Given the description of an element on the screen output the (x, y) to click on. 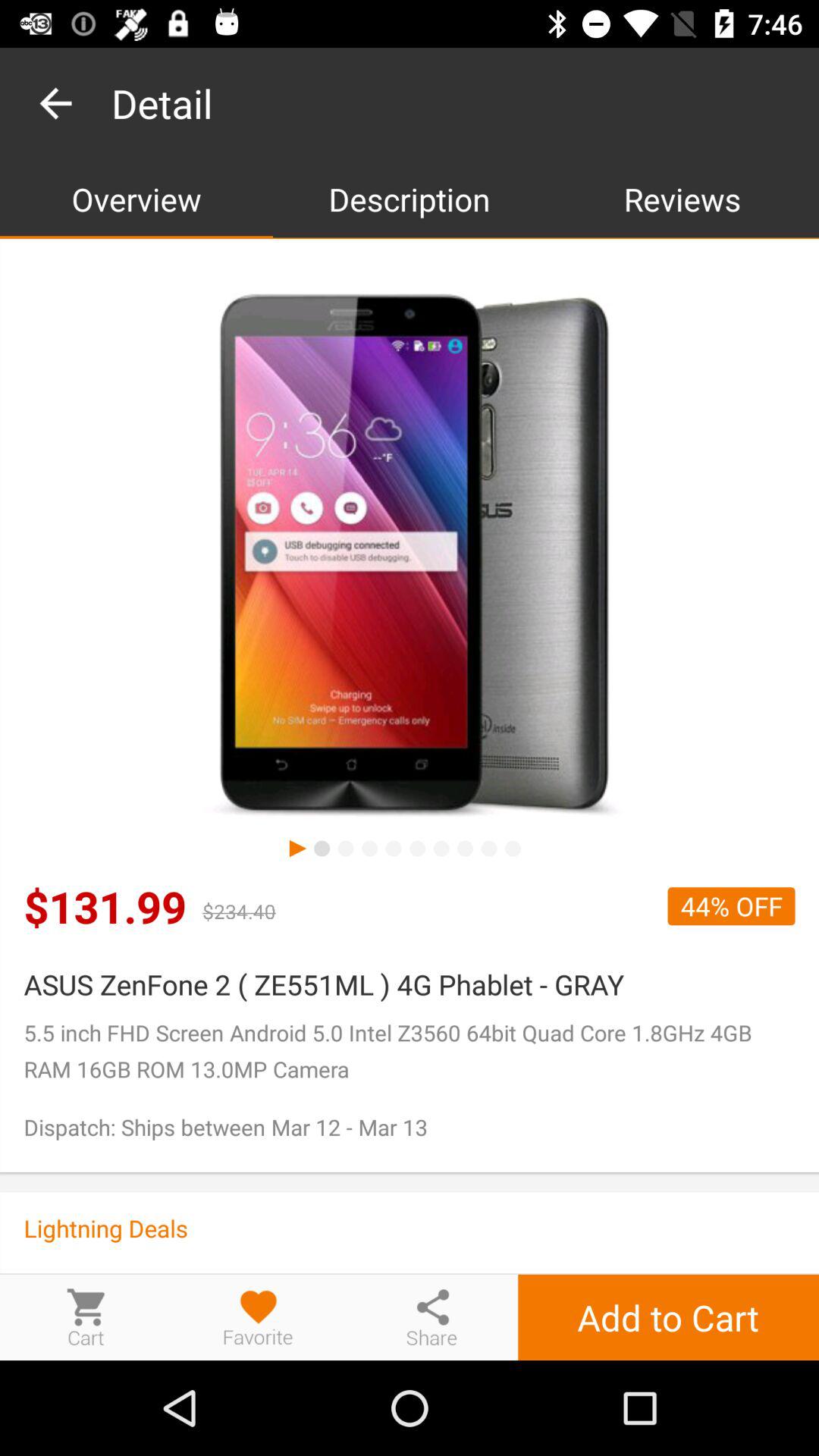
favorite the product (258, 1317)
